Given the description of an element on the screen output the (x, y) to click on. 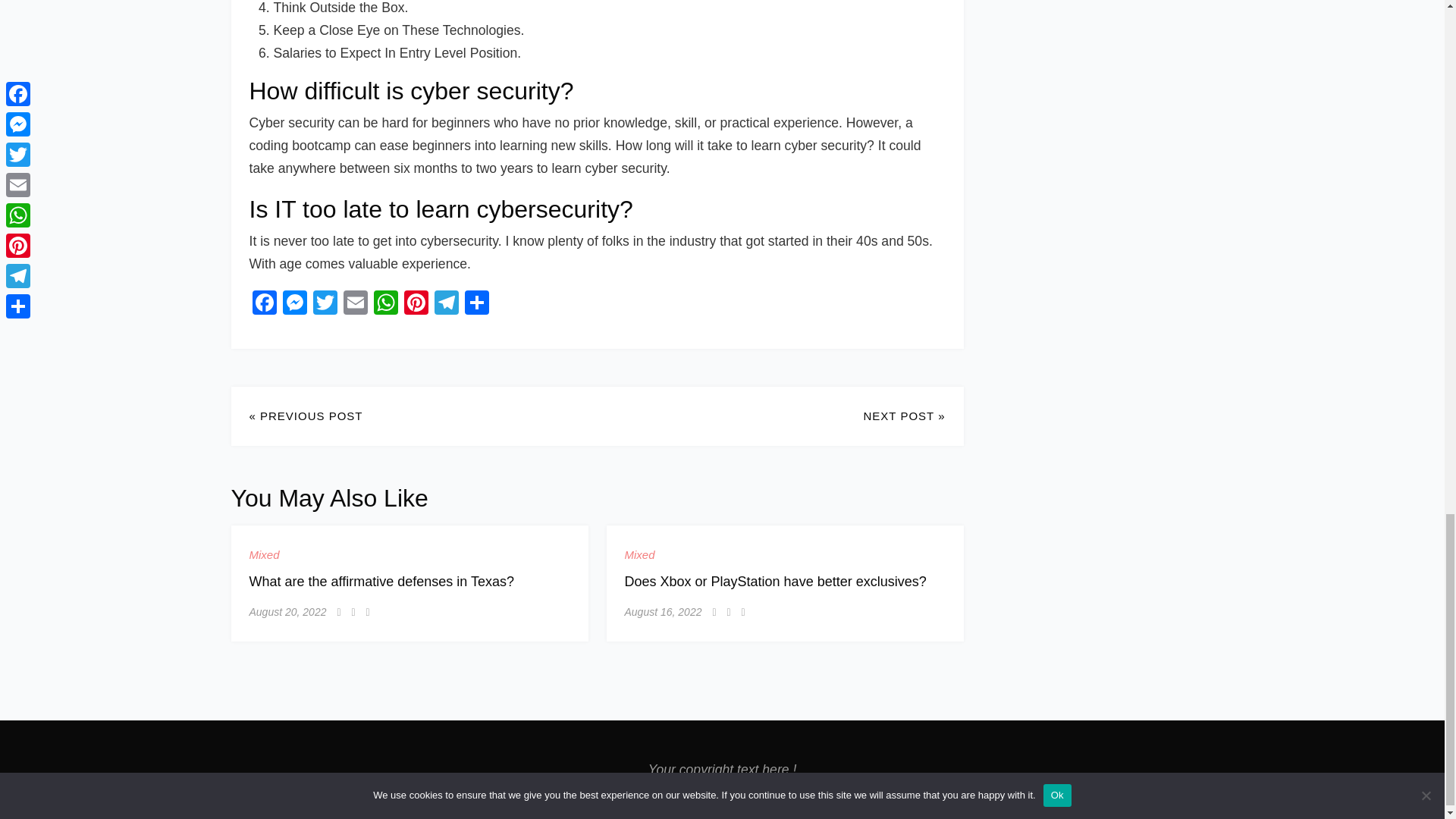
Mixed (263, 554)
Email (354, 304)
Facebook (263, 304)
Twitter (323, 304)
August 20, 2022 (287, 611)
Share (476, 304)
WhatsApp (384, 304)
Email (354, 304)
Telegram (445, 304)
Pinterest (415, 304)
Pinterest (415, 304)
What are the affirmative defenses in Texas? (380, 581)
Facebook (263, 304)
Twitter (323, 304)
Messenger (293, 304)
